Given the description of an element on the screen output the (x, y) to click on. 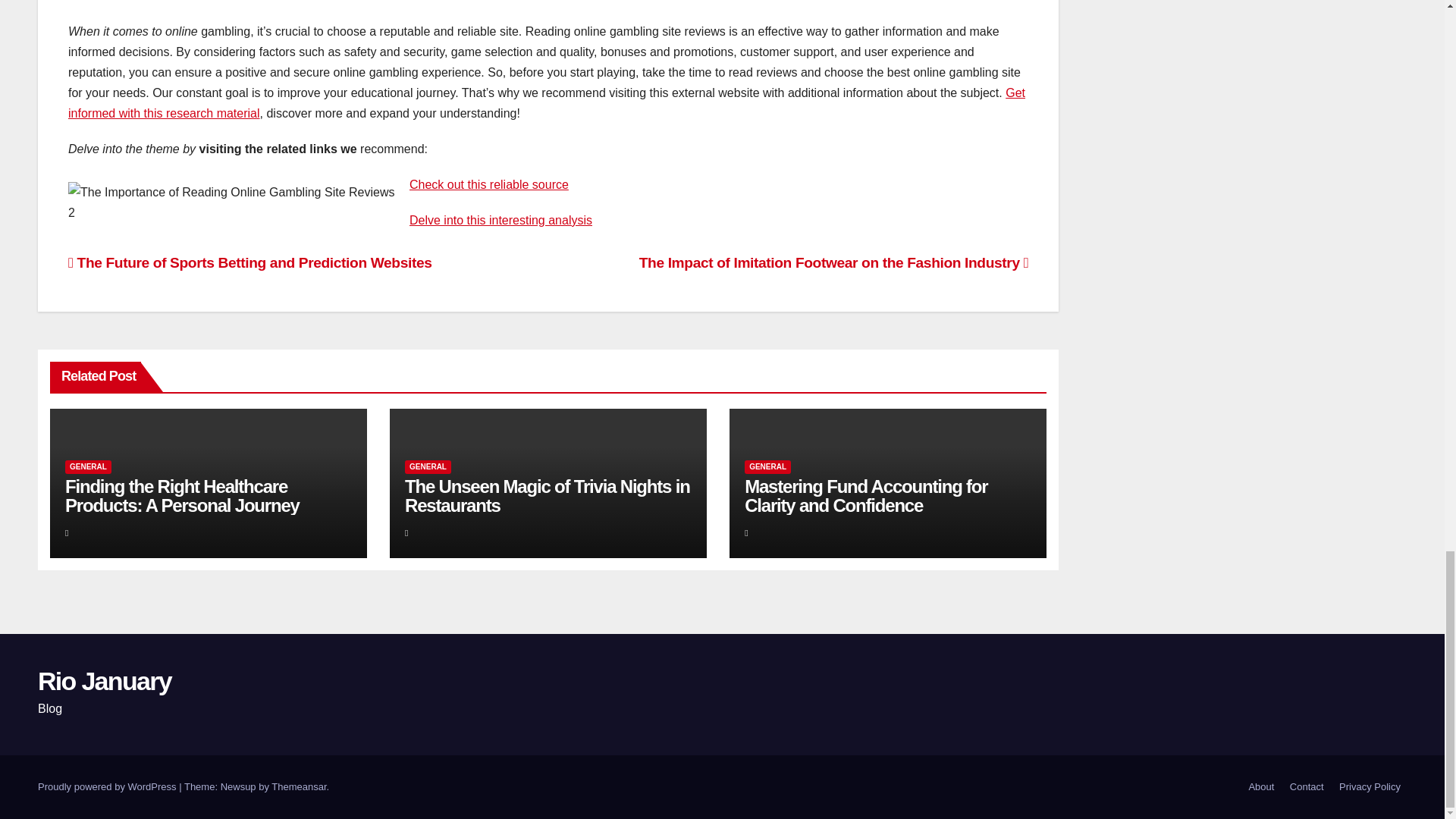
Check out this reliable source (489, 184)
Contact (1307, 786)
Mastering Fund Accounting for Clarity and Confidence (865, 495)
The Future of Sports Betting and Prediction Websites (250, 262)
About (1260, 786)
Delve into this interesting analysis (500, 219)
The Impact of Imitation Footwear on the Fashion Industry (833, 262)
GENERAL (427, 467)
The Unseen Magic of Trivia Nights in Restaurants (547, 495)
